Given the description of an element on the screen output the (x, y) to click on. 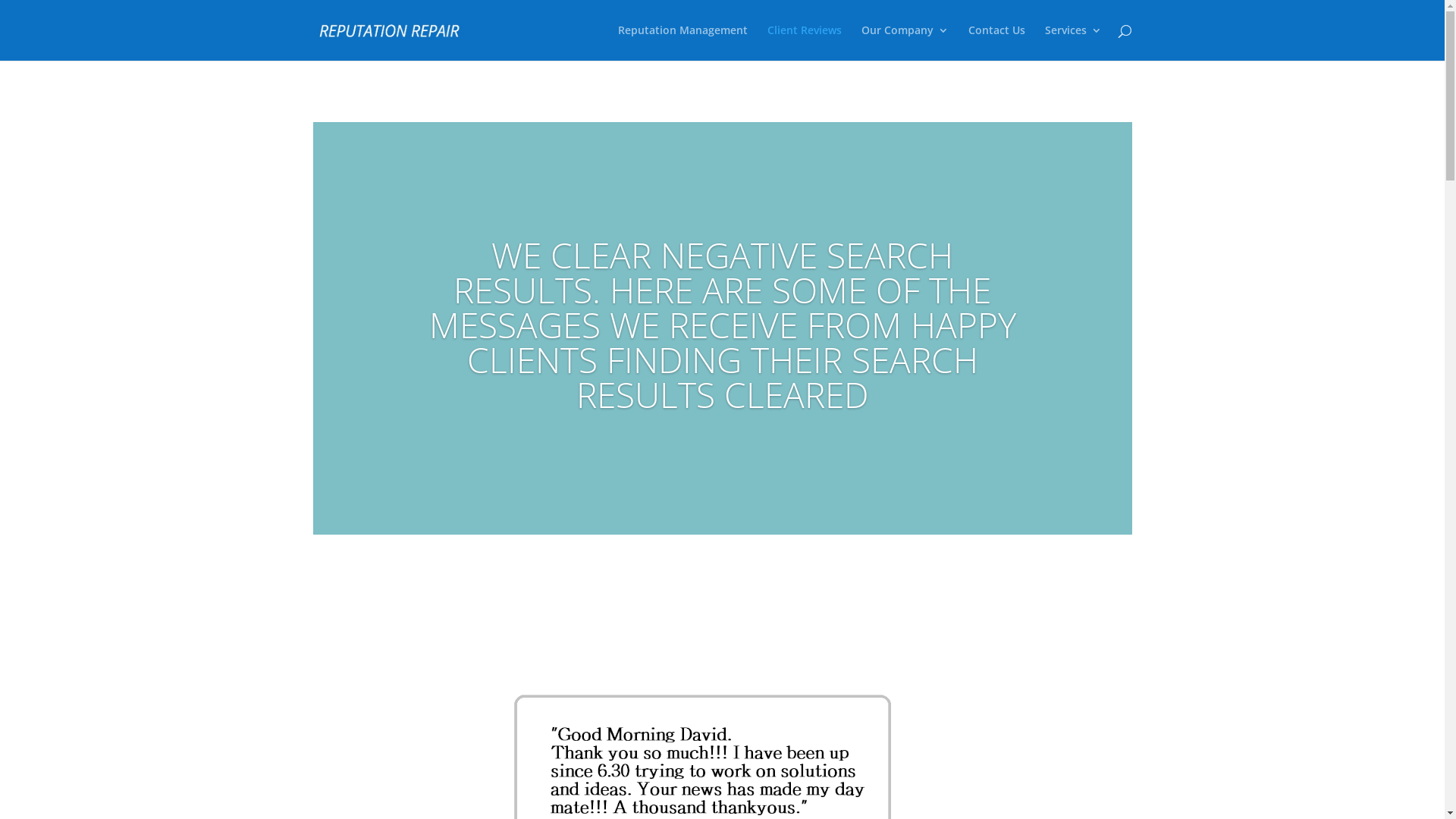
Services Element type: text (1072, 42)
Contact Us Element type: text (995, 42)
Our Company Element type: text (904, 42)
Client Reviews Element type: text (804, 42)
Reputation Management Element type: text (681, 42)
